Given the description of an element on the screen output the (x, y) to click on. 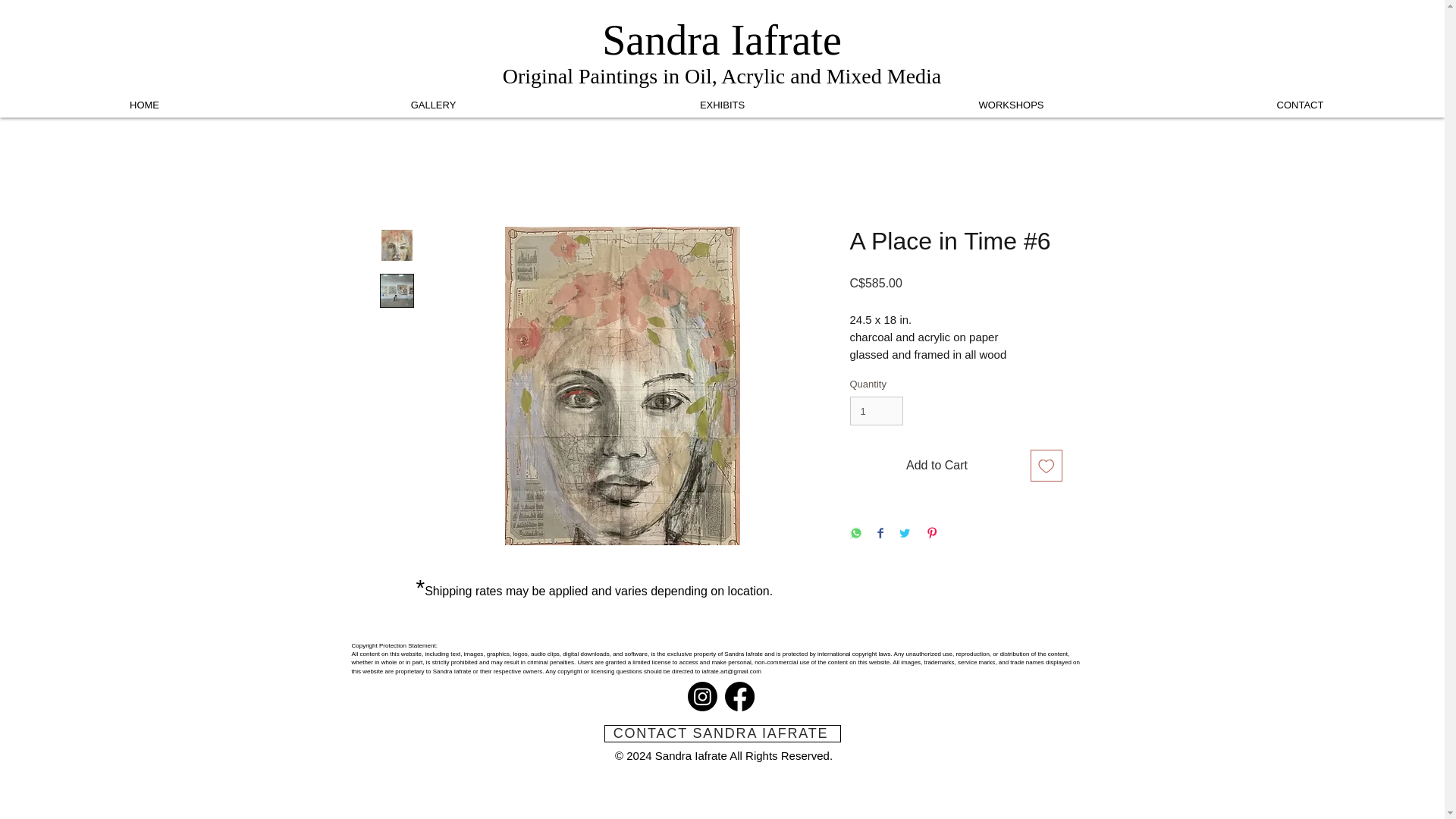
1 (875, 410)
Add to Cart (935, 465)
HOME (144, 104)
WORKSHOPS (1011, 104)
GALLERY (433, 104)
CONTACT SANDRA IAFRATE (722, 733)
EXHIBITS (722, 104)
